Given the description of an element on the screen output the (x, y) to click on. 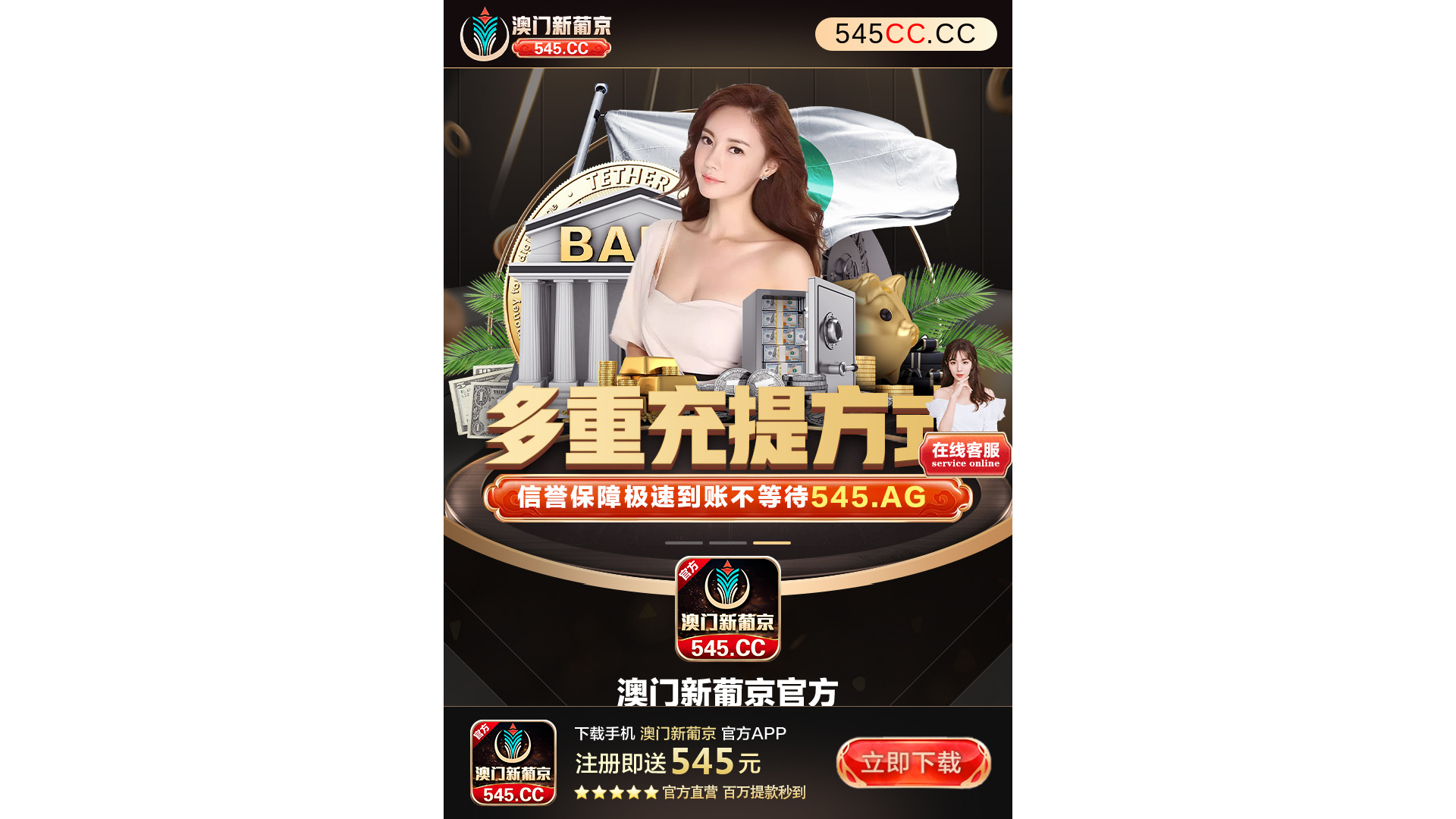
545RR.CC Element type: text (906, 34)
545RR.CC Element type: text (727, 34)
0 Element type: text (727, 325)
